Given the description of an element on the screen output the (x, y) to click on. 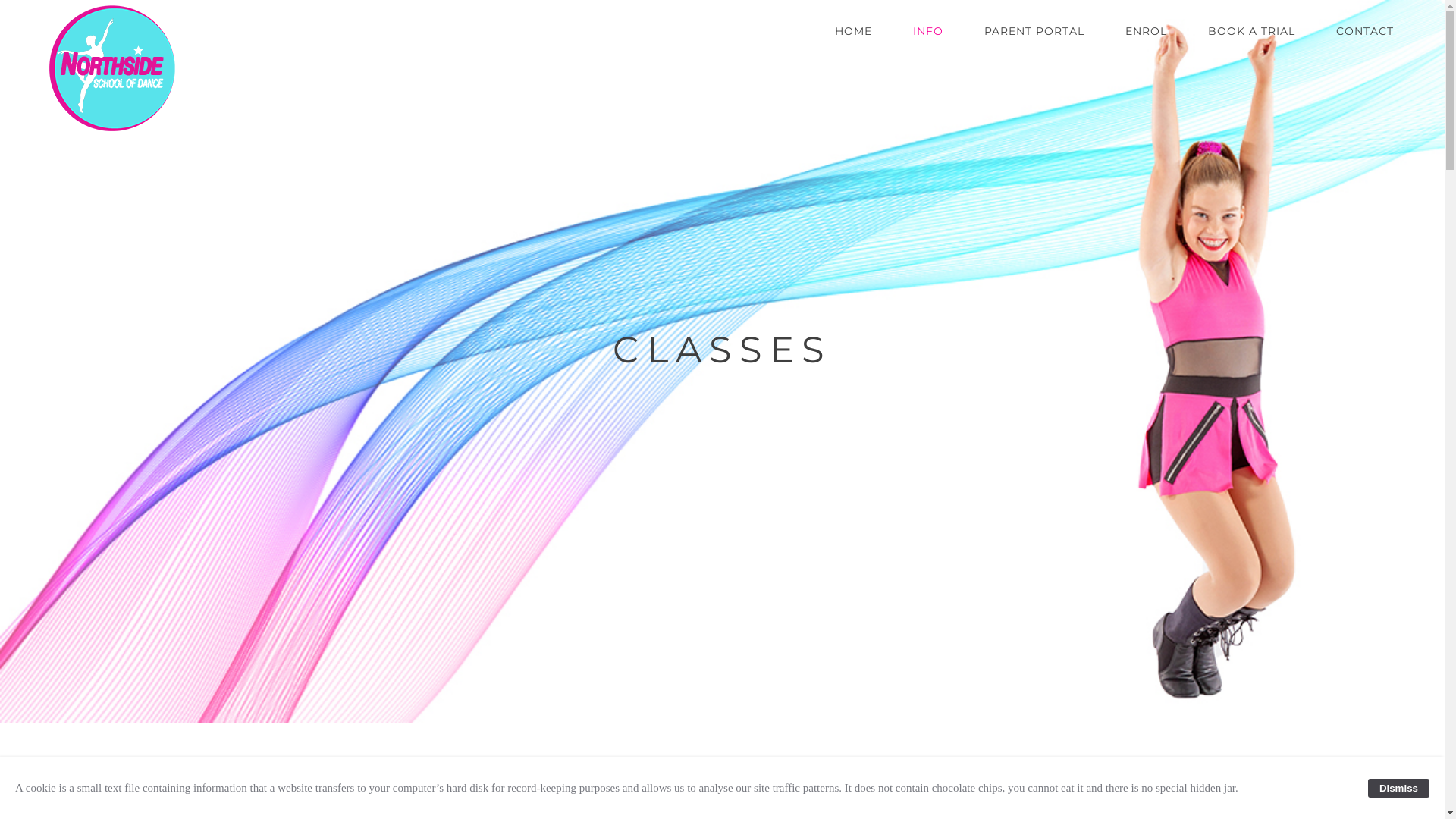
BOOK A TRIAL Element type: text (1251, 42)
PARENT PORTAL Element type: text (1034, 42)
INFO Element type: text (928, 42)
Dismiss Element type: text (1398, 787)
HOME Element type: text (853, 42)
CONTACT Element type: text (1364, 42)
ENROL Element type: text (1146, 42)
